Given the description of an element on the screen output the (x, y) to click on. 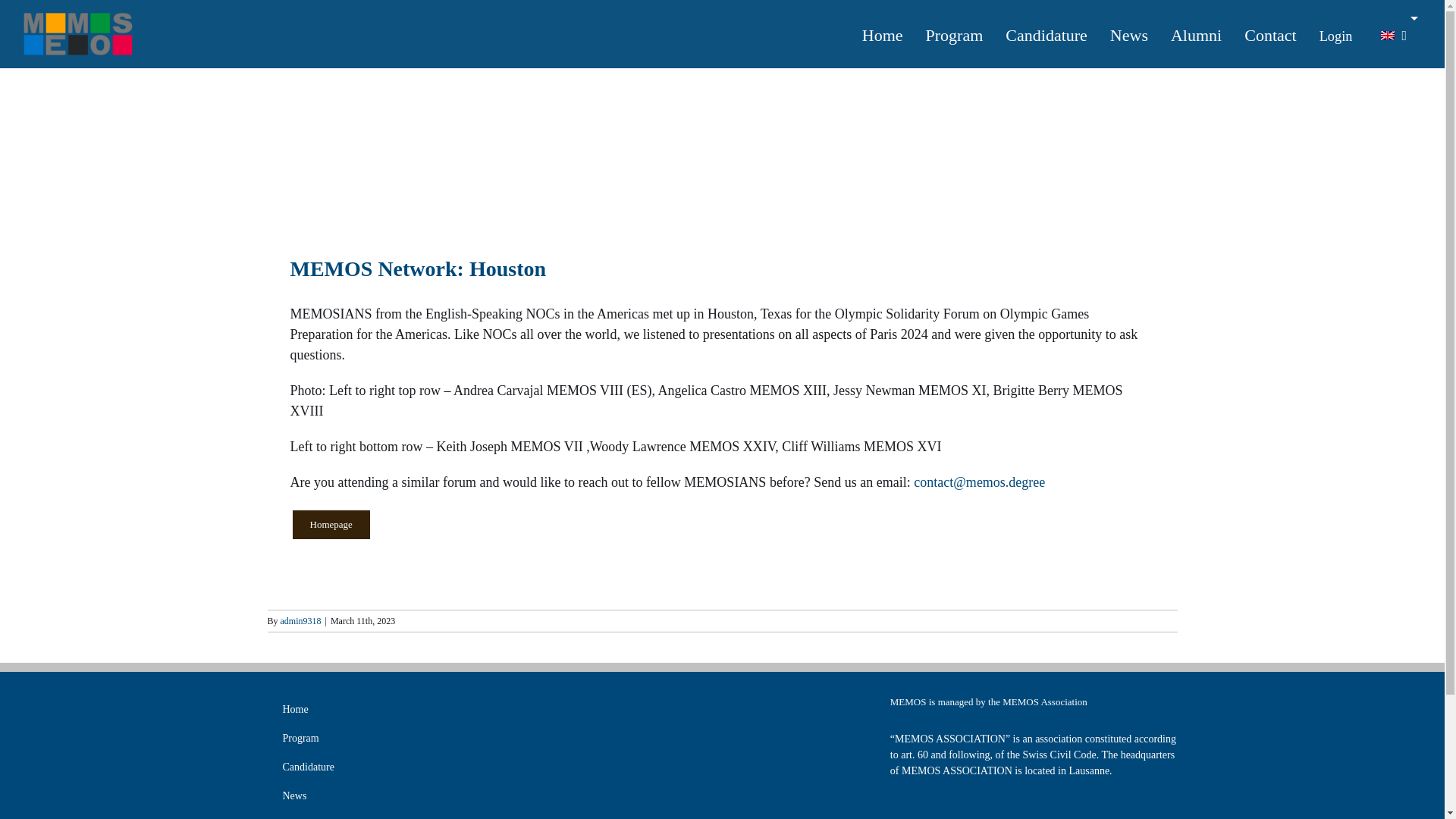
Alumni (409, 814)
admin9318 (301, 620)
Program (409, 737)
MEMOS Houston Masters Sports (402, 150)
Homepage (330, 524)
News (409, 796)
Candidature (409, 767)
Candidature (1046, 33)
Posts by admin9318 (301, 620)
Data privacy policy (1033, 817)
